Given the description of an element on the screen output the (x, y) to click on. 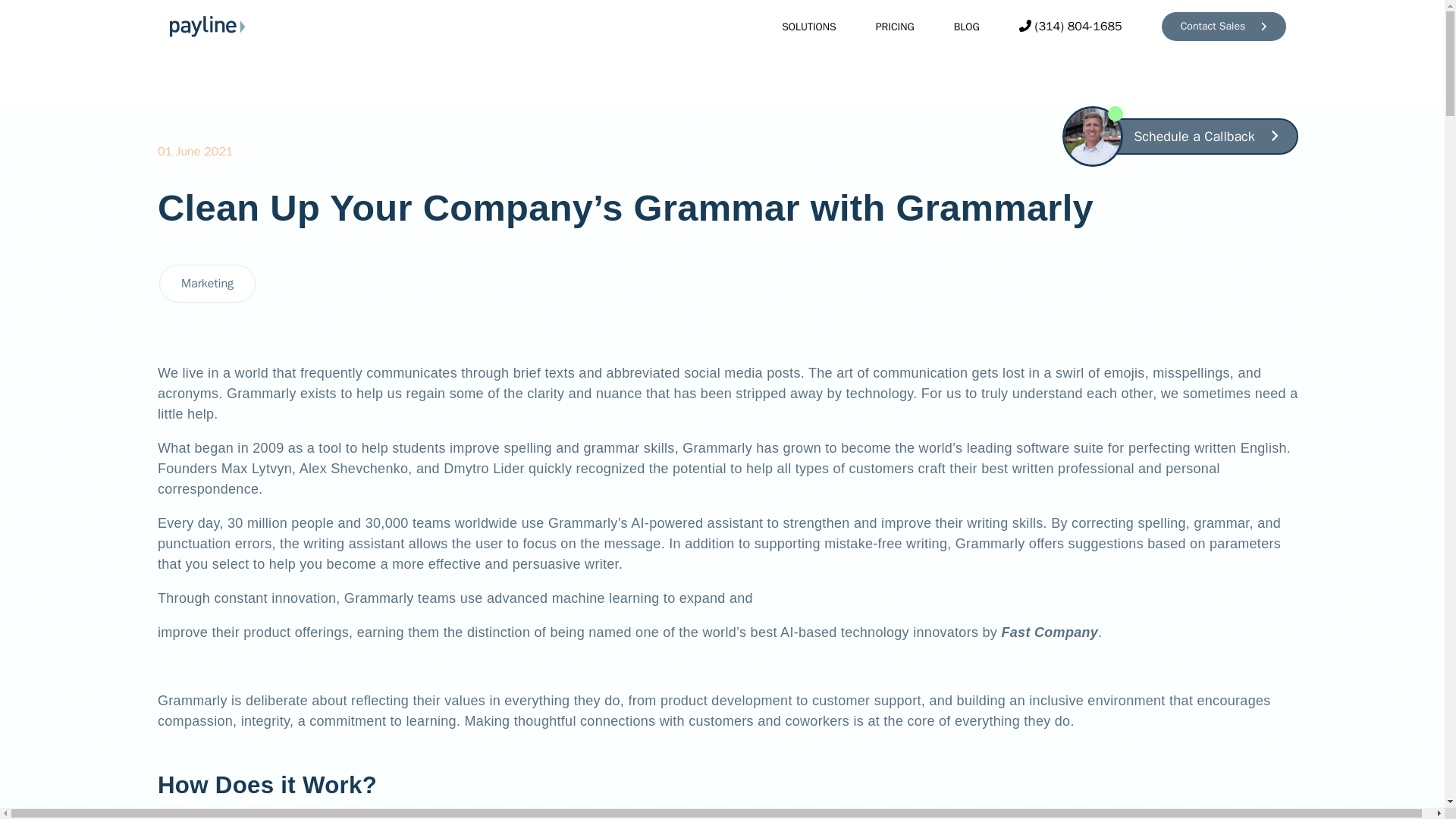
BLOG (956, 26)
Marketing (207, 283)
PRICING (884, 26)
Marketing (207, 283)
Schedule a Callback (1205, 135)
SOLUTIONS (797, 26)
Contact Sales (1223, 26)
